Given the description of an element on the screen output the (x, y) to click on. 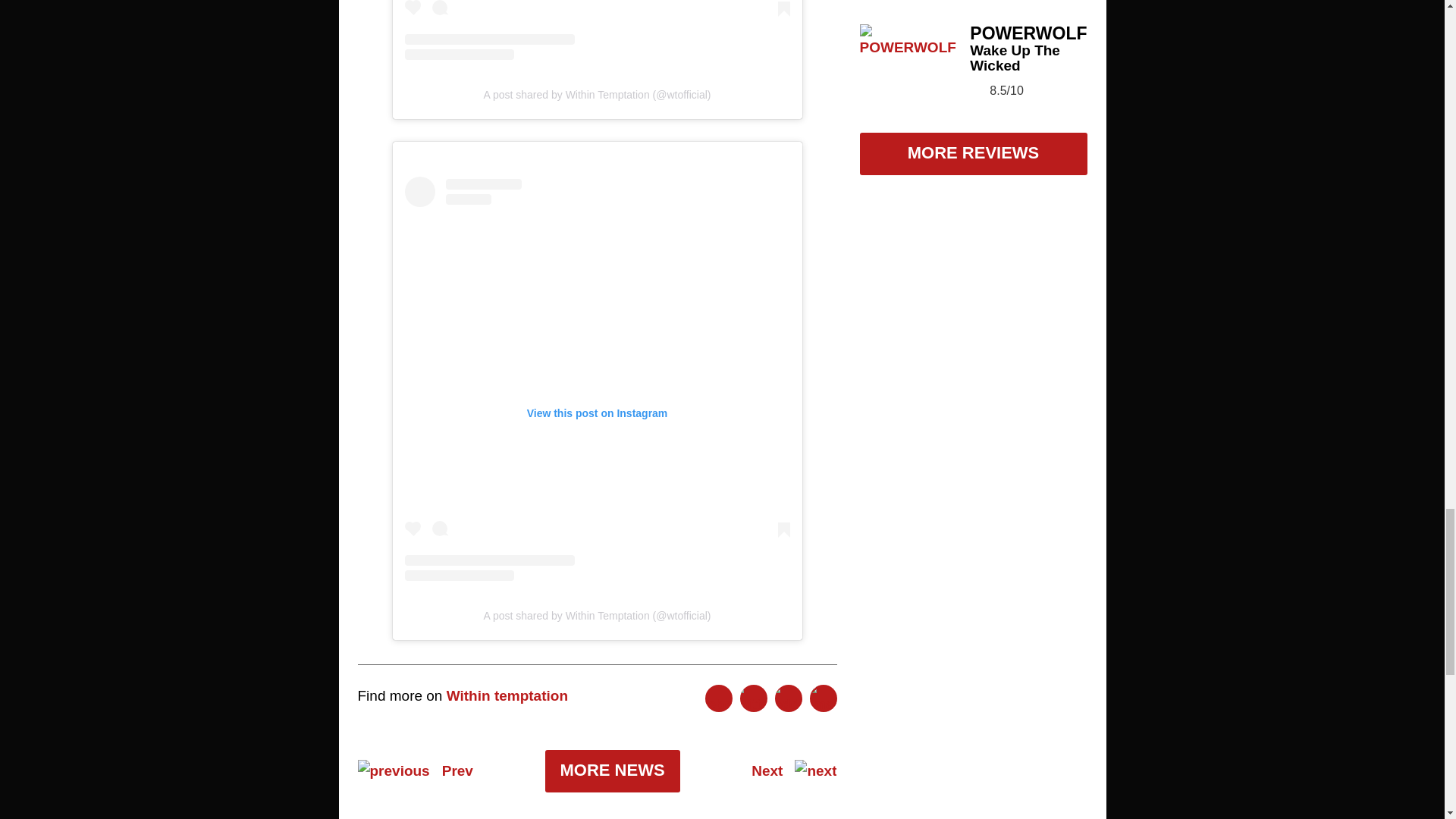
Share On Twitter (753, 697)
View this post on Instagram (597, 29)
Within temptation (506, 695)
Share On Facebook (718, 697)
Copy To Clipboard (823, 697)
Share On Reddit (788, 697)
